Given the description of an element on the screen output the (x, y) to click on. 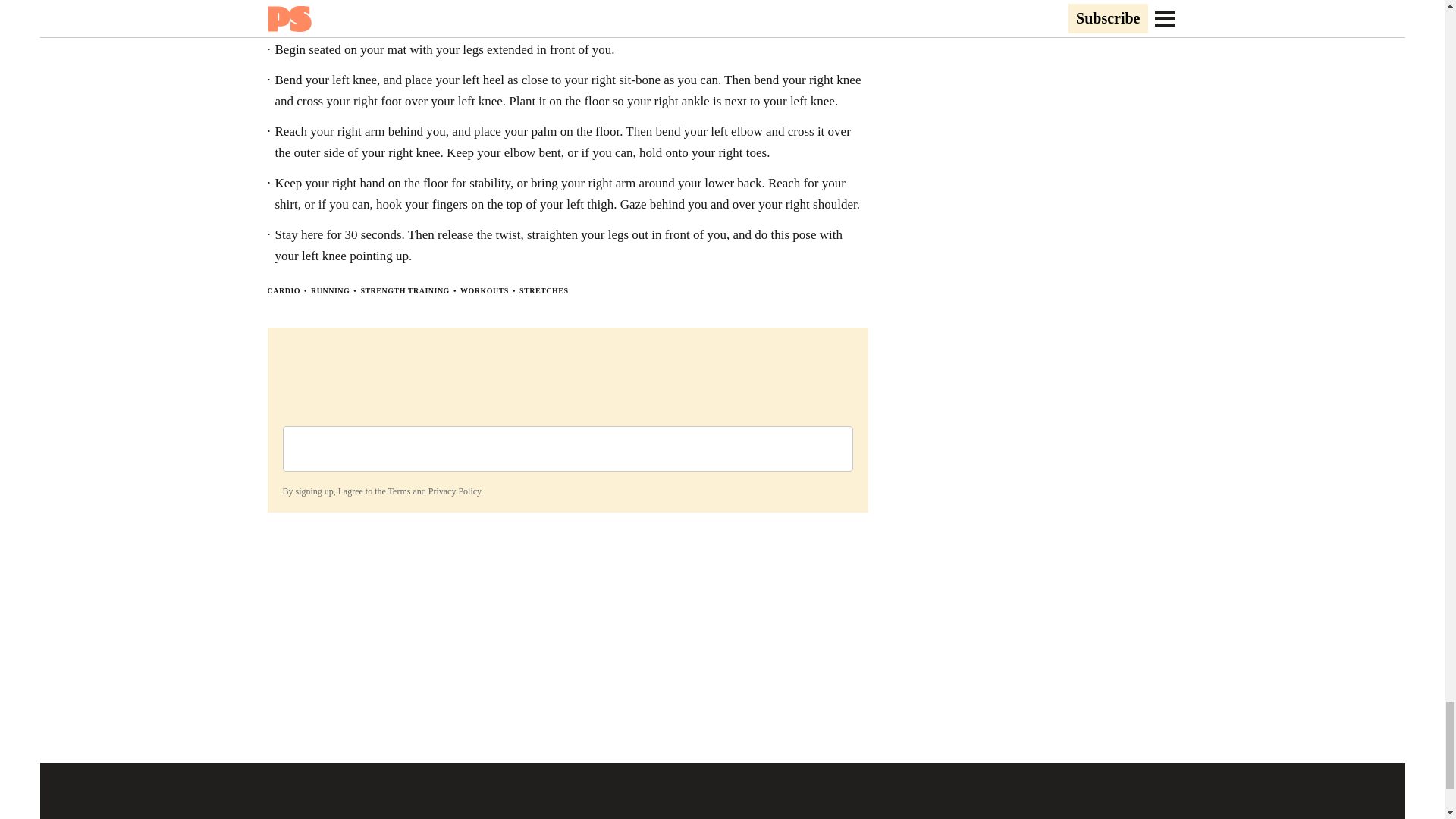
WORKOUTS (484, 290)
RUNNING (330, 290)
STRENGTH TRAINING (404, 290)
CARDIO (282, 290)
STRETCHES (544, 290)
Privacy Policy. (455, 491)
Terms (399, 491)
